Given the description of an element on the screen output the (x, y) to click on. 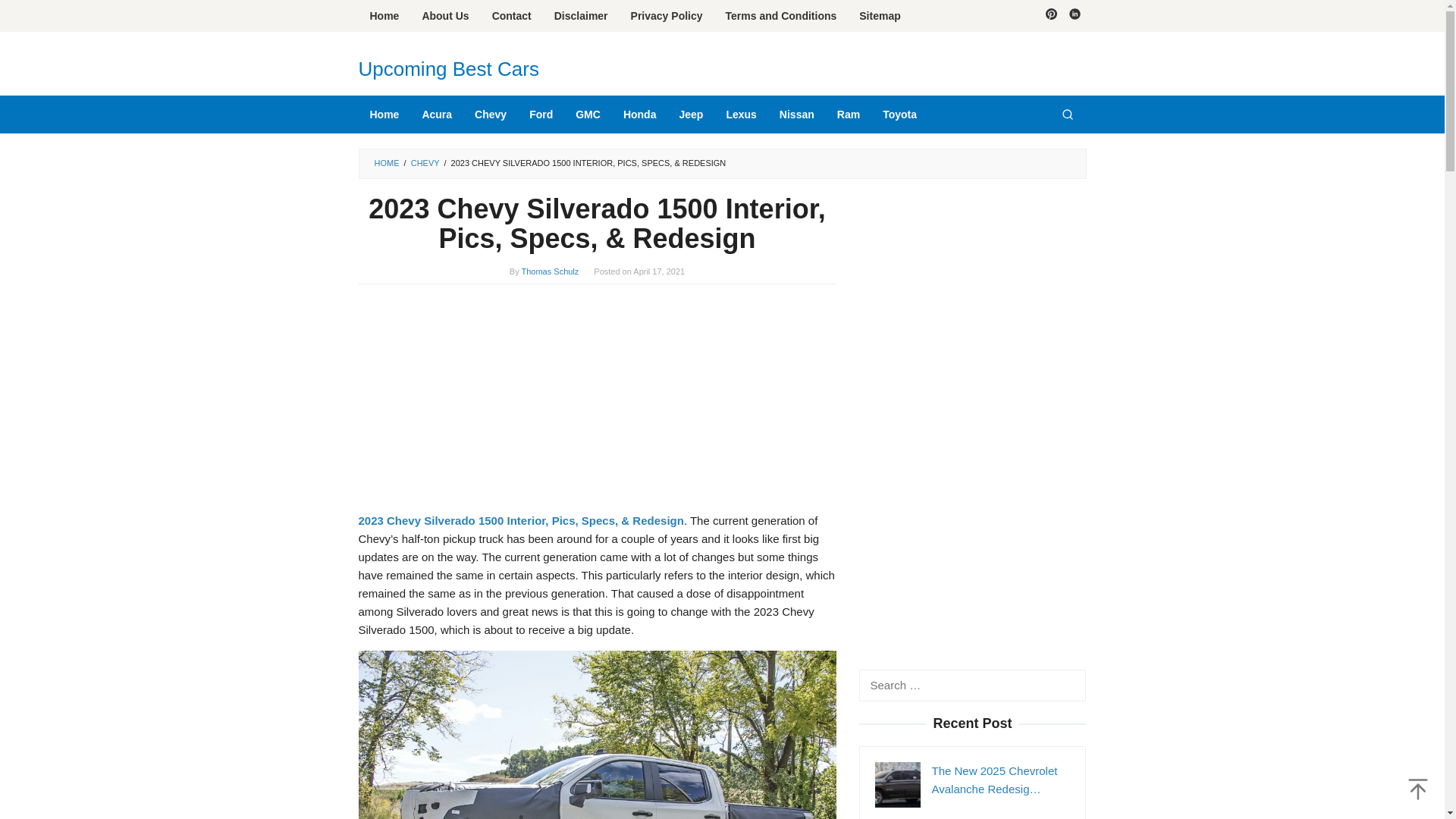
Privacy Policy (667, 15)
Advertisement (596, 405)
HOME (386, 162)
Jeep (690, 114)
Lexus (740, 114)
Home (384, 114)
Contact (511, 15)
Ford (541, 114)
Home (384, 15)
CHEVY (424, 162)
Disclaimer (581, 15)
GMC (587, 114)
Upcoming Best Cars (448, 68)
Chevy (490, 114)
About Us (445, 15)
